Given the description of an element on the screen output the (x, y) to click on. 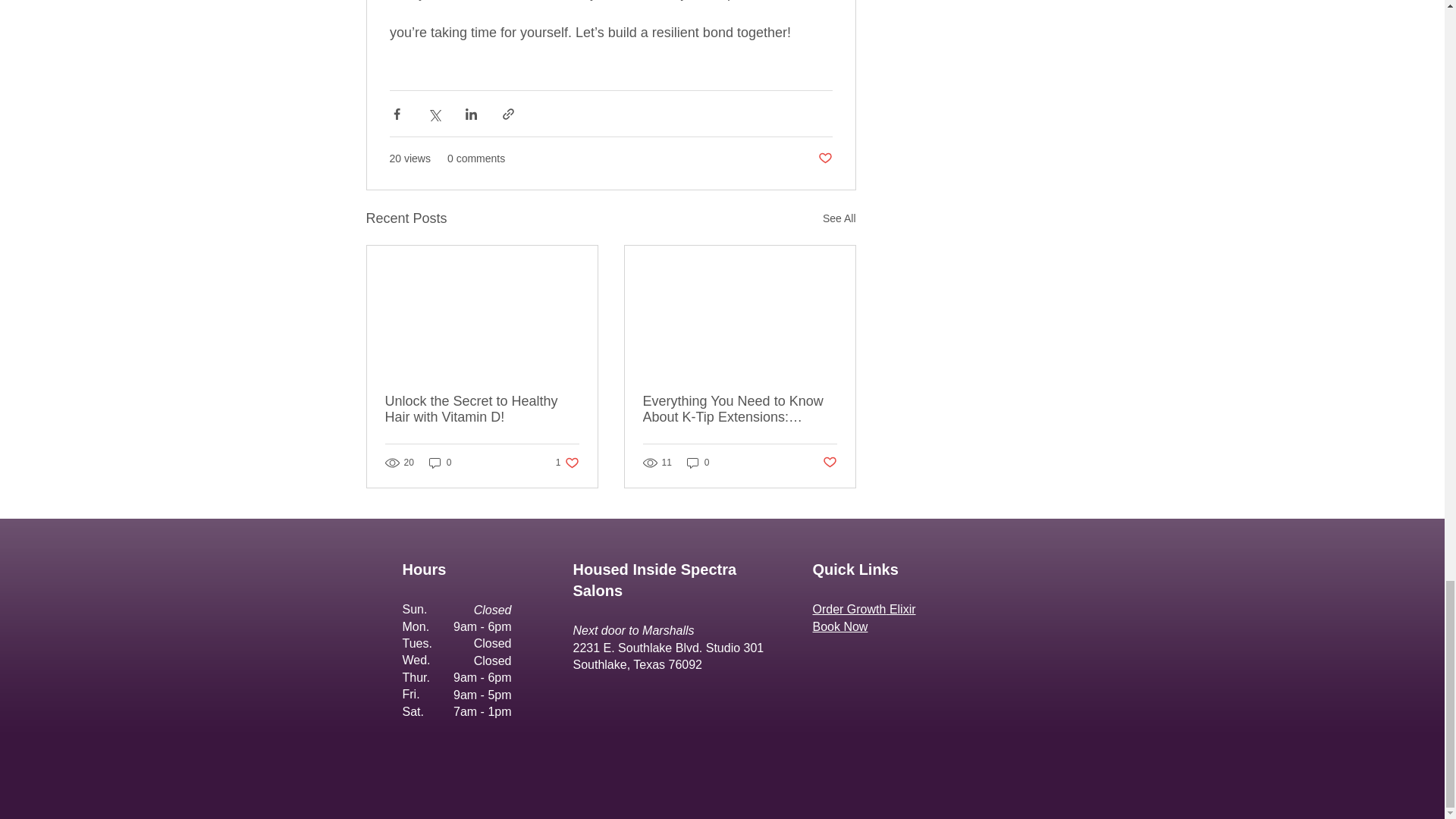
Post not marked as liked (828, 462)
Order Growth Elixir (863, 608)
Unlock the Secret to Healthy Hair with Vitamin D! (482, 409)
Book Now (839, 626)
Post not marked as liked (567, 462)
0 (823, 158)
See All (440, 462)
0 (839, 219)
